Given the description of an element on the screen output the (x, y) to click on. 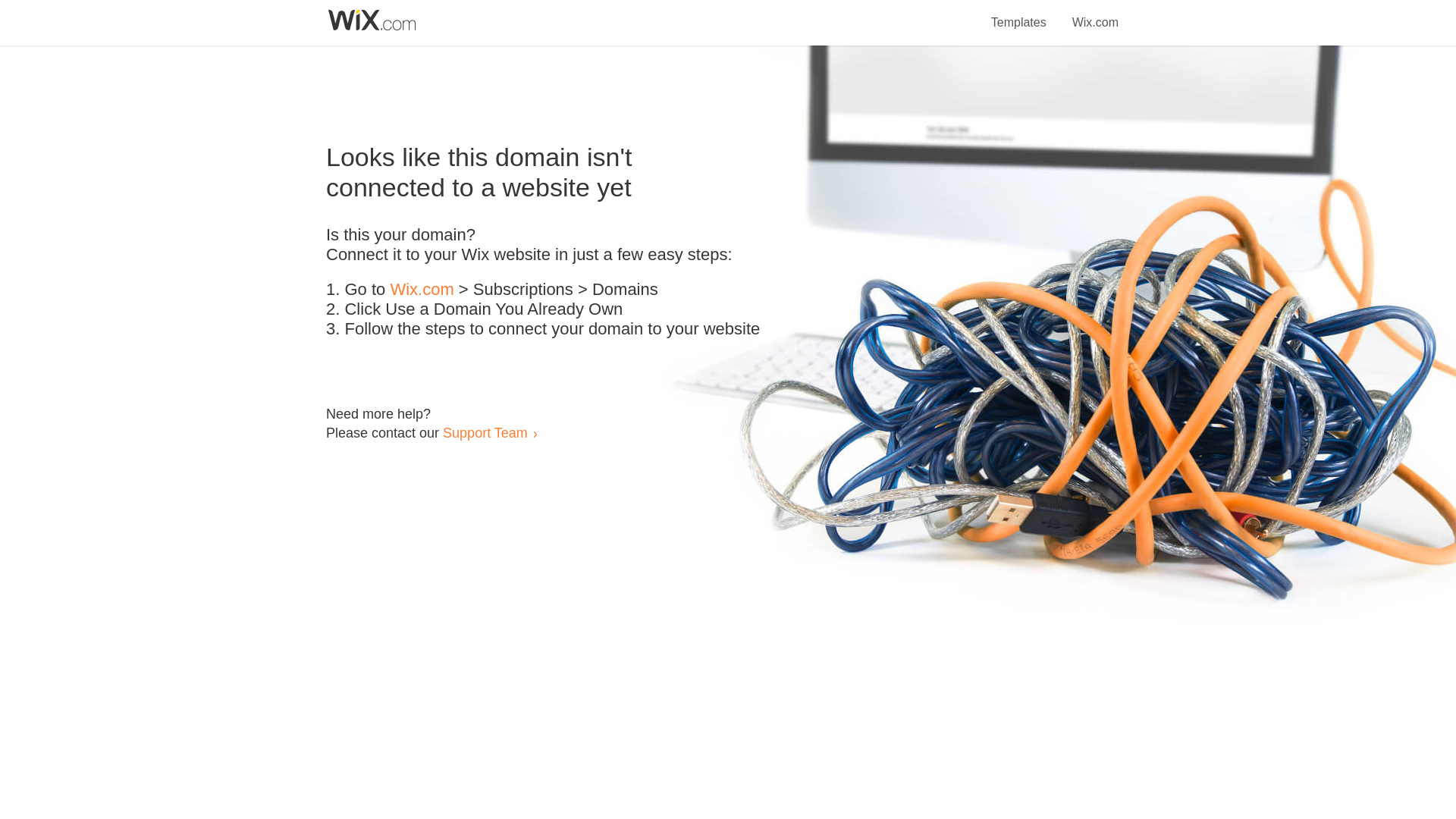
Templates (1018, 14)
Support Team (484, 432)
Wix.com (1095, 14)
Wix.com (421, 289)
